Given the description of an element on the screen output the (x, y) to click on. 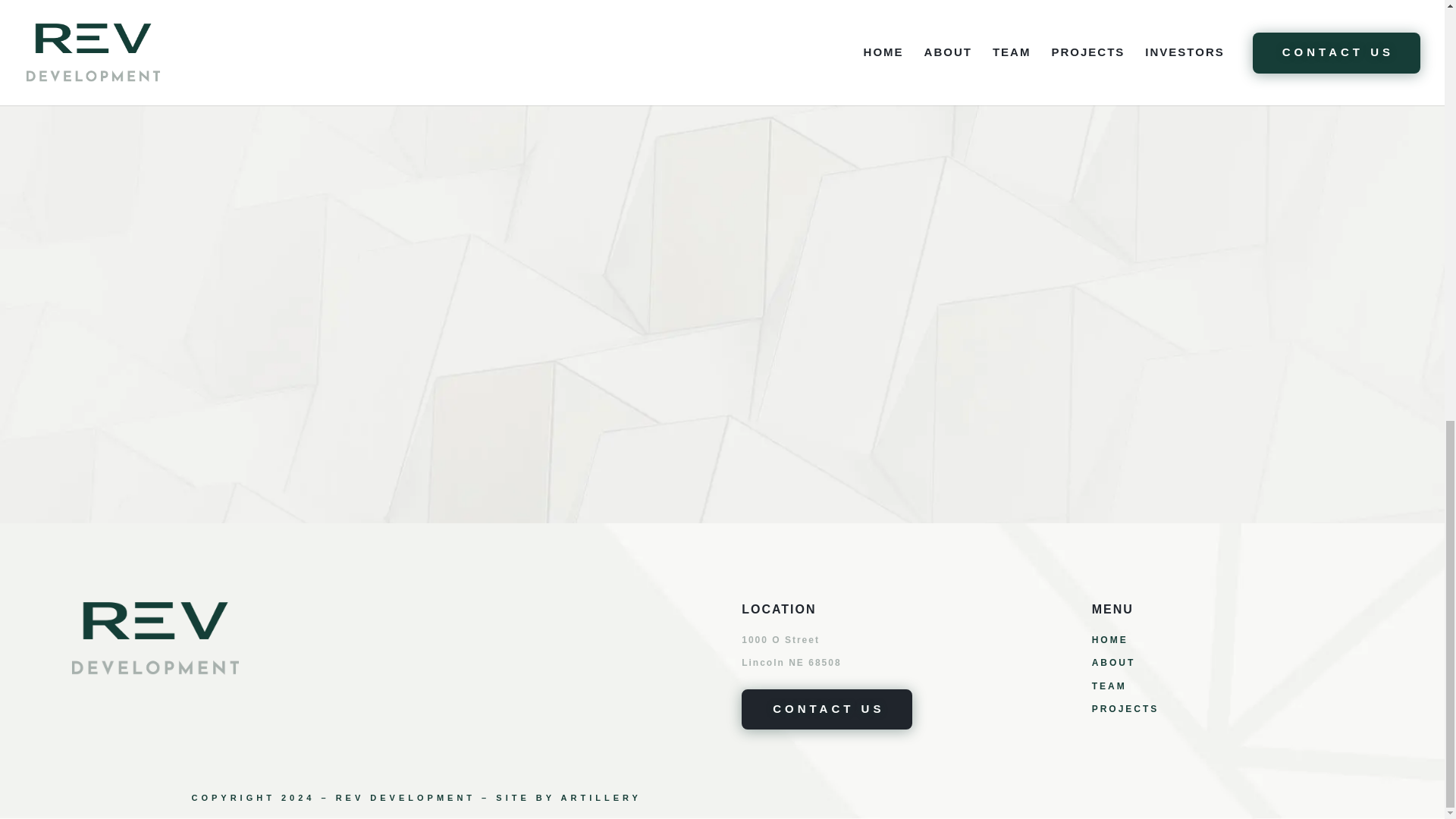
ABOUT (1113, 662)
HOME (1110, 639)
Logo-png-01 Molly (154, 637)
SITE BY ARTILLERY (569, 797)
PROJECTS (1125, 708)
CONTACT US (826, 709)
TEAM (1109, 685)
Lincoln NE 68508 (791, 662)
1000 O Street (780, 639)
